Given the description of an element on the screen output the (x, y) to click on. 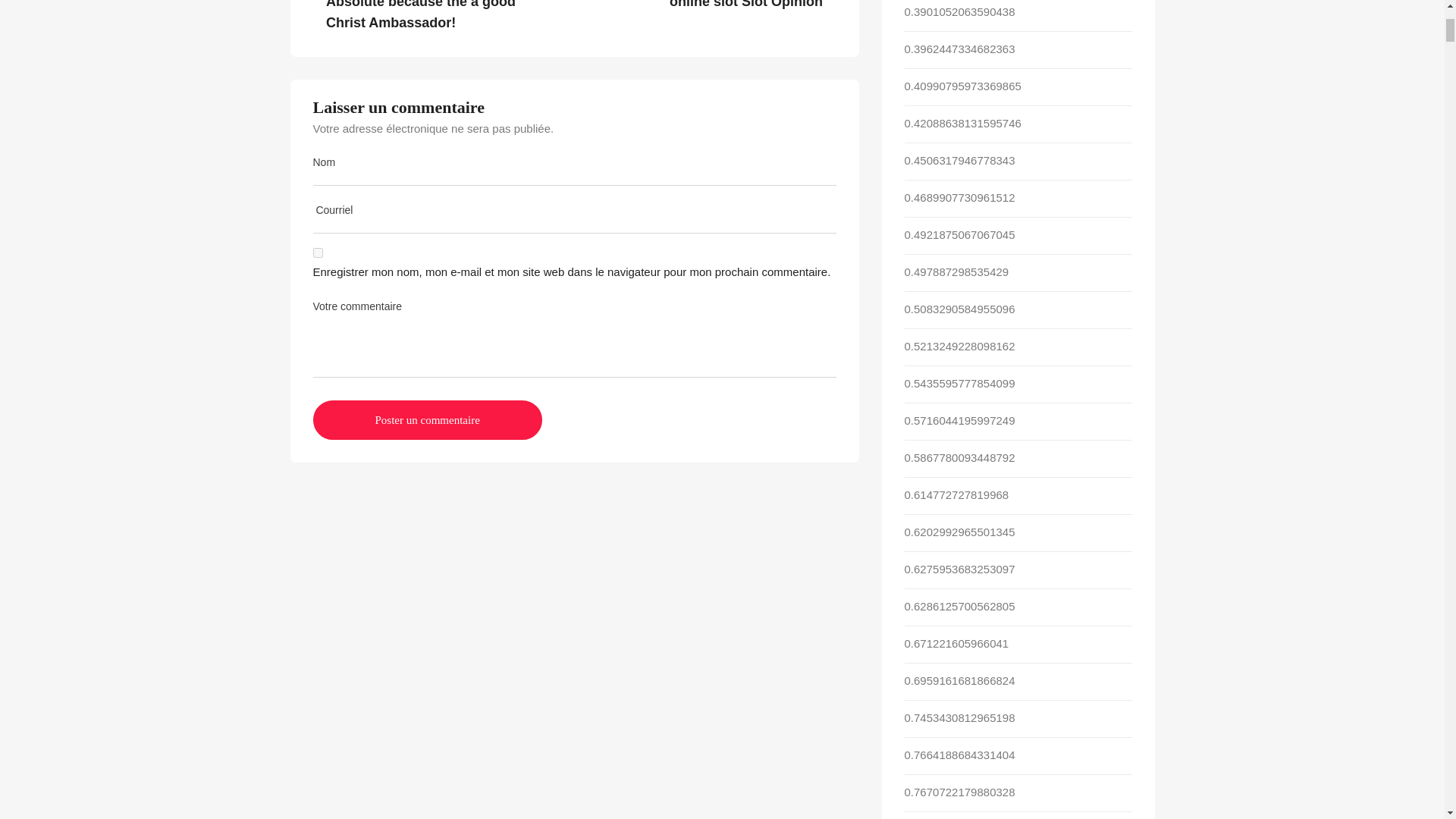
yes (317, 252)
Poster un commentaire (427, 419)
